Given the description of an element on the screen output the (x, y) to click on. 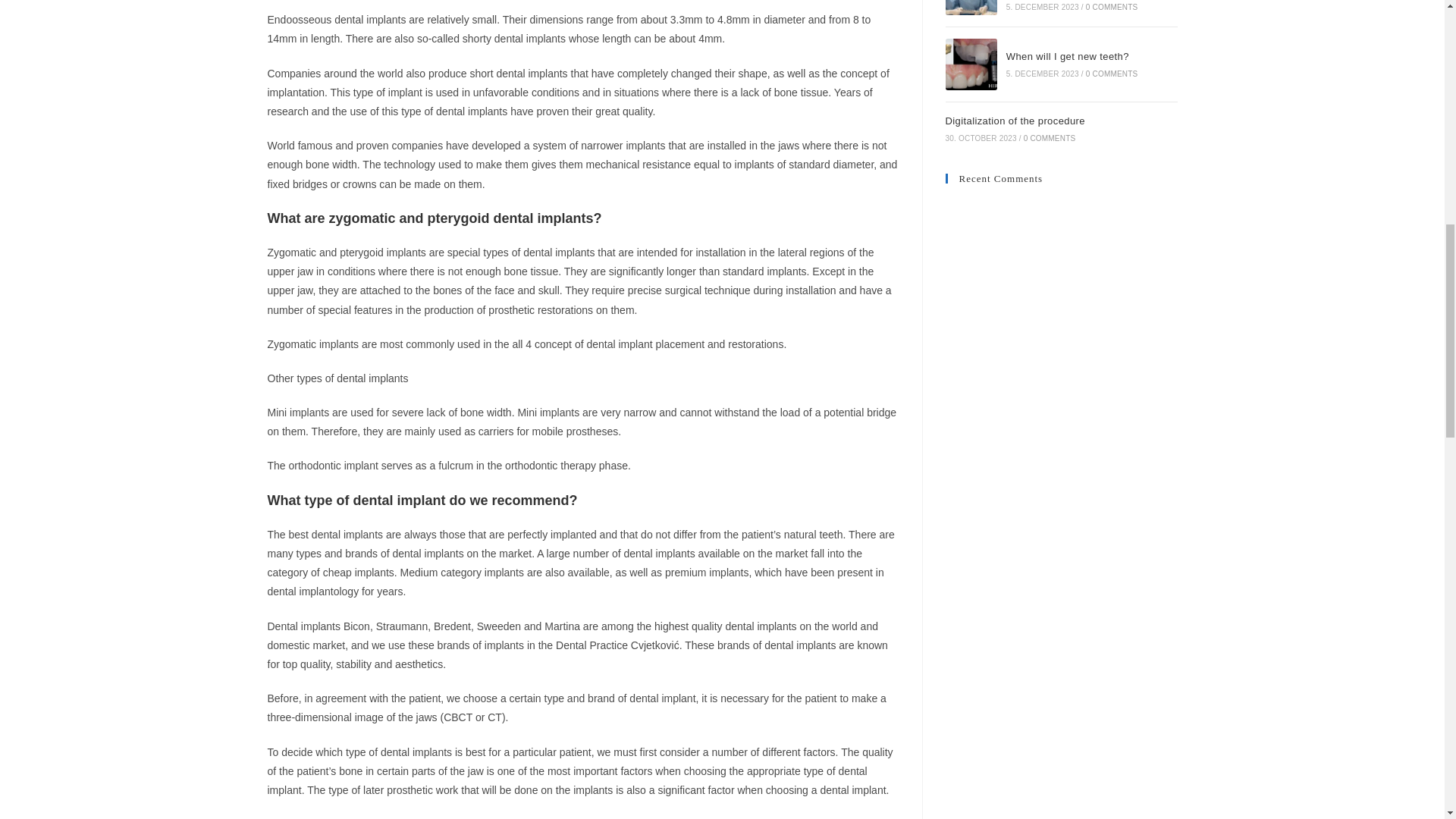
When will I get new teeth? (969, 64)
